Given the description of an element on the screen output the (x, y) to click on. 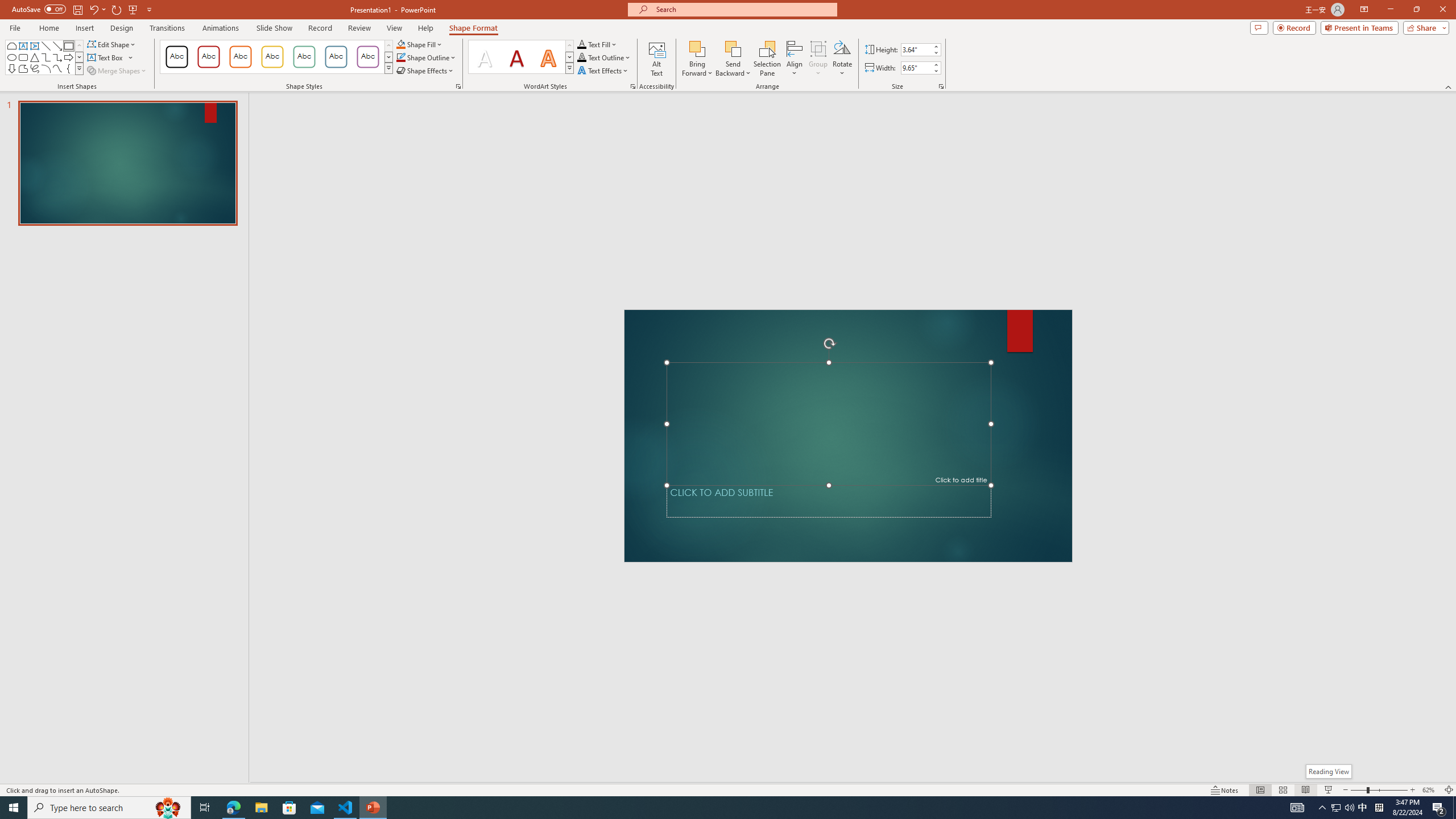
Send Backward (733, 48)
Colored Outline - Orange, Accent 2 (240, 56)
Shape Width (915, 67)
Quick Access Toolbar (82, 9)
Restore Down (1416, 9)
Animations (220, 28)
Redo (117, 9)
Bring Forward (697, 48)
Size and Position... (941, 85)
Colored Outline - Green, Accent 4 (304, 56)
Arrow: Down (11, 68)
Colored Outline - Black, Dark 1 (176, 56)
